Given the description of an element on the screen output the (x, y) to click on. 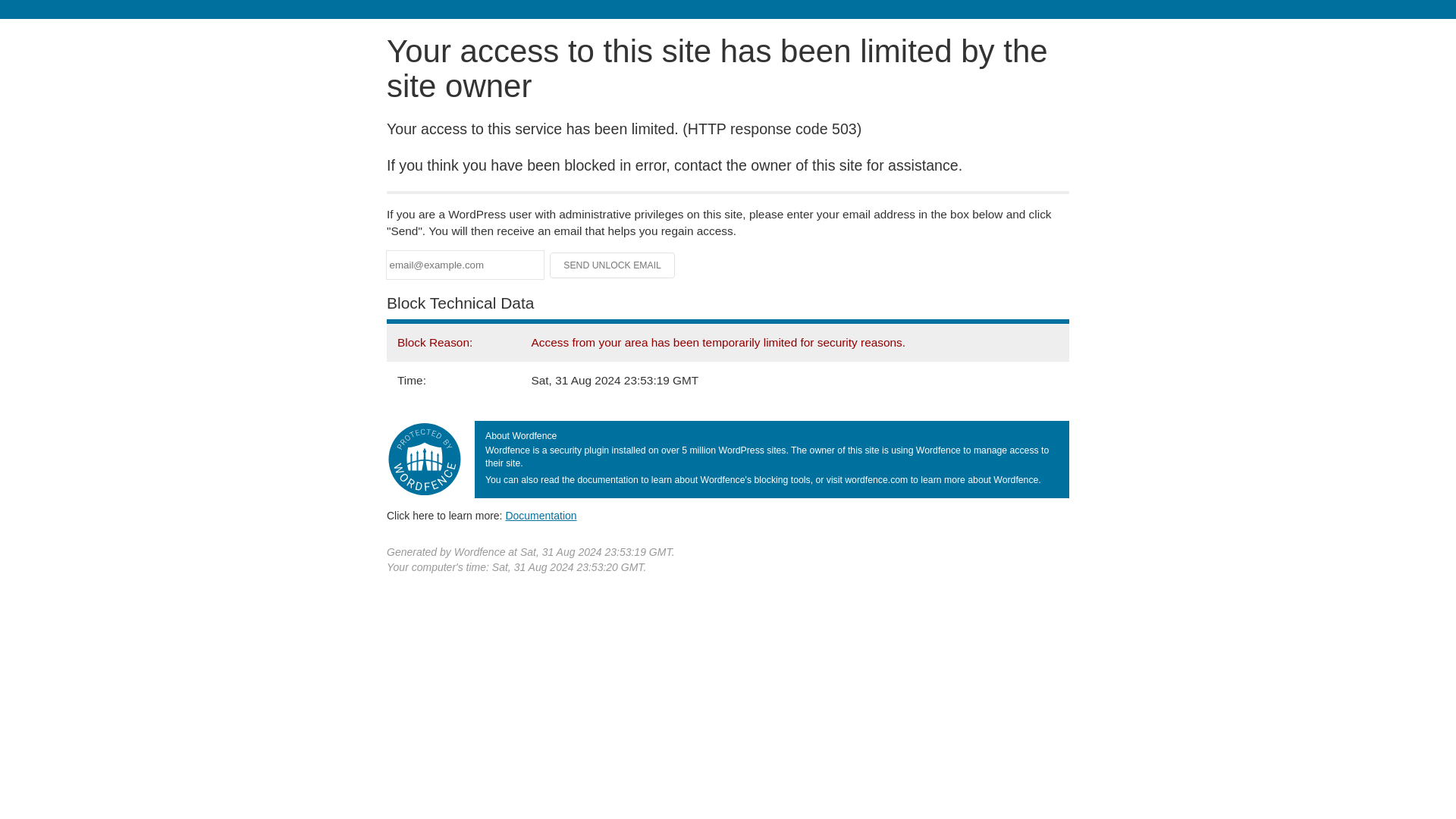
Documentation (540, 515)
Send Unlock Email (612, 265)
Send Unlock Email (612, 265)
